Given the description of an element on the screen output the (x, y) to click on. 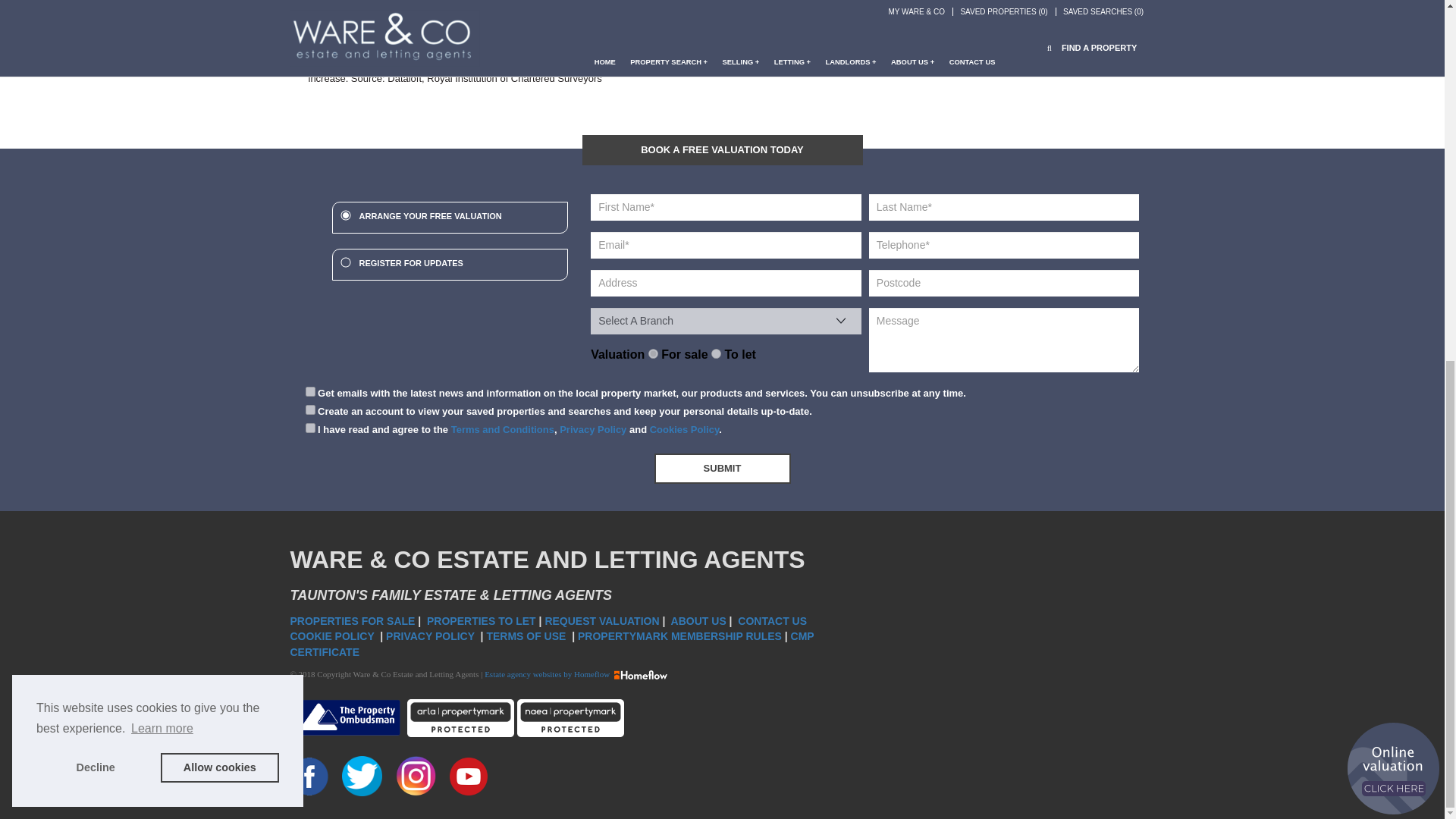
Estate agent website design (547, 673)
on (309, 409)
Contact Us (773, 621)
Decline (95, 125)
Allow cookies (219, 125)
Request Valuation (601, 621)
Properties to Let (480, 621)
Terms of Use (527, 635)
on (309, 391)
sales (652, 353)
Learn more (162, 87)
Properties for Sale (351, 621)
lettings (715, 353)
Submit (721, 468)
Privacy Policy (431, 635)
